Given the description of an element on the screen output the (x, y) to click on. 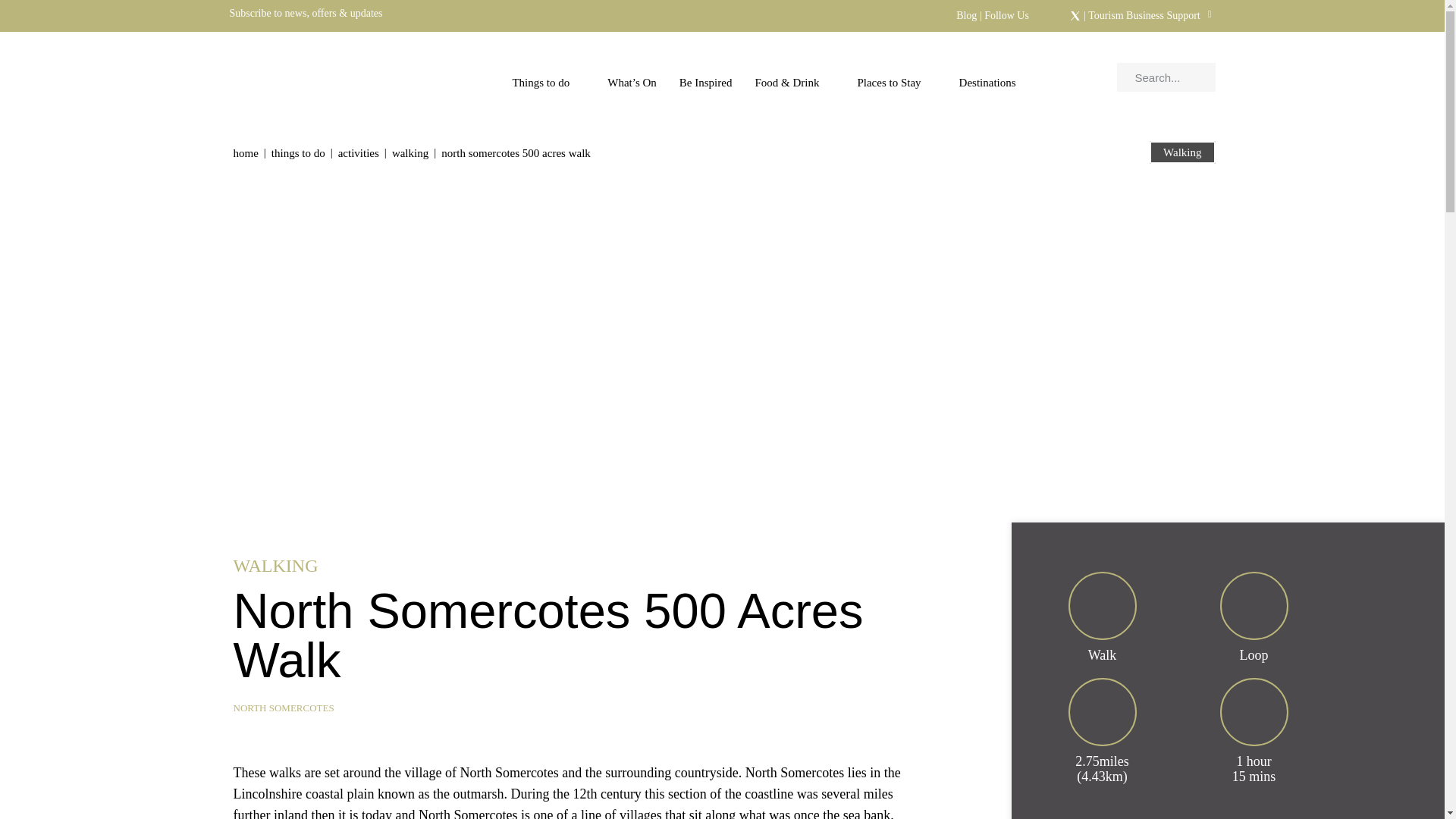
Things to do (547, 82)
Be Inspired (706, 82)
Visit Lincolnshire (327, 76)
Search (1170, 77)
